Given the description of an element on the screen output the (x, y) to click on. 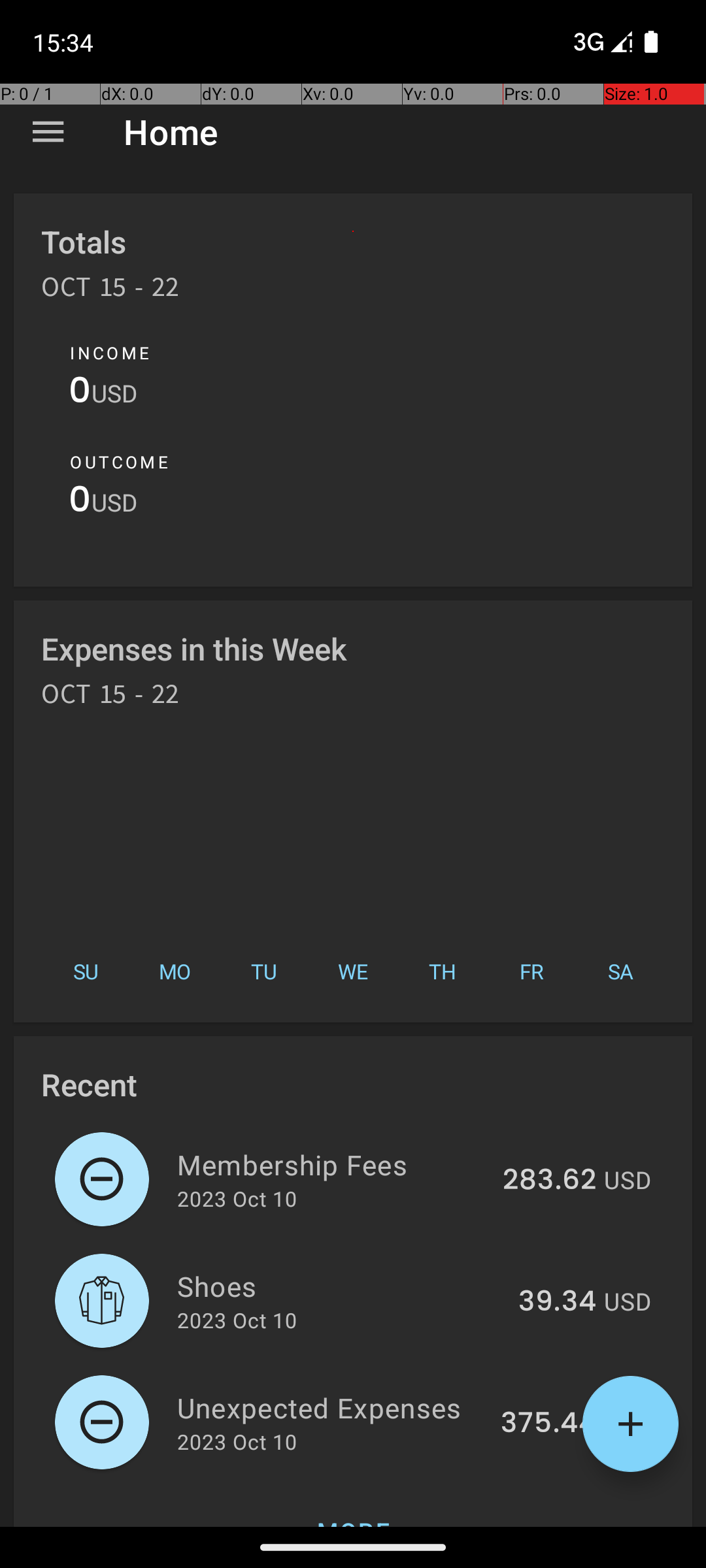
MORE Element type: android.widget.Button (352, 1504)
Membership Fees Element type: android.widget.TextView (332, 1164)
283.62 Element type: android.widget.TextView (549, 1180)
Shoes Element type: android.widget.TextView (340, 1285)
39.34 Element type: android.widget.TextView (556, 1301)
Unexpected Expenses Element type: android.widget.TextView (331, 1407)
375.44 Element type: android.widget.TextView (548, 1423)
